Given the description of an element on the screen output the (x, y) to click on. 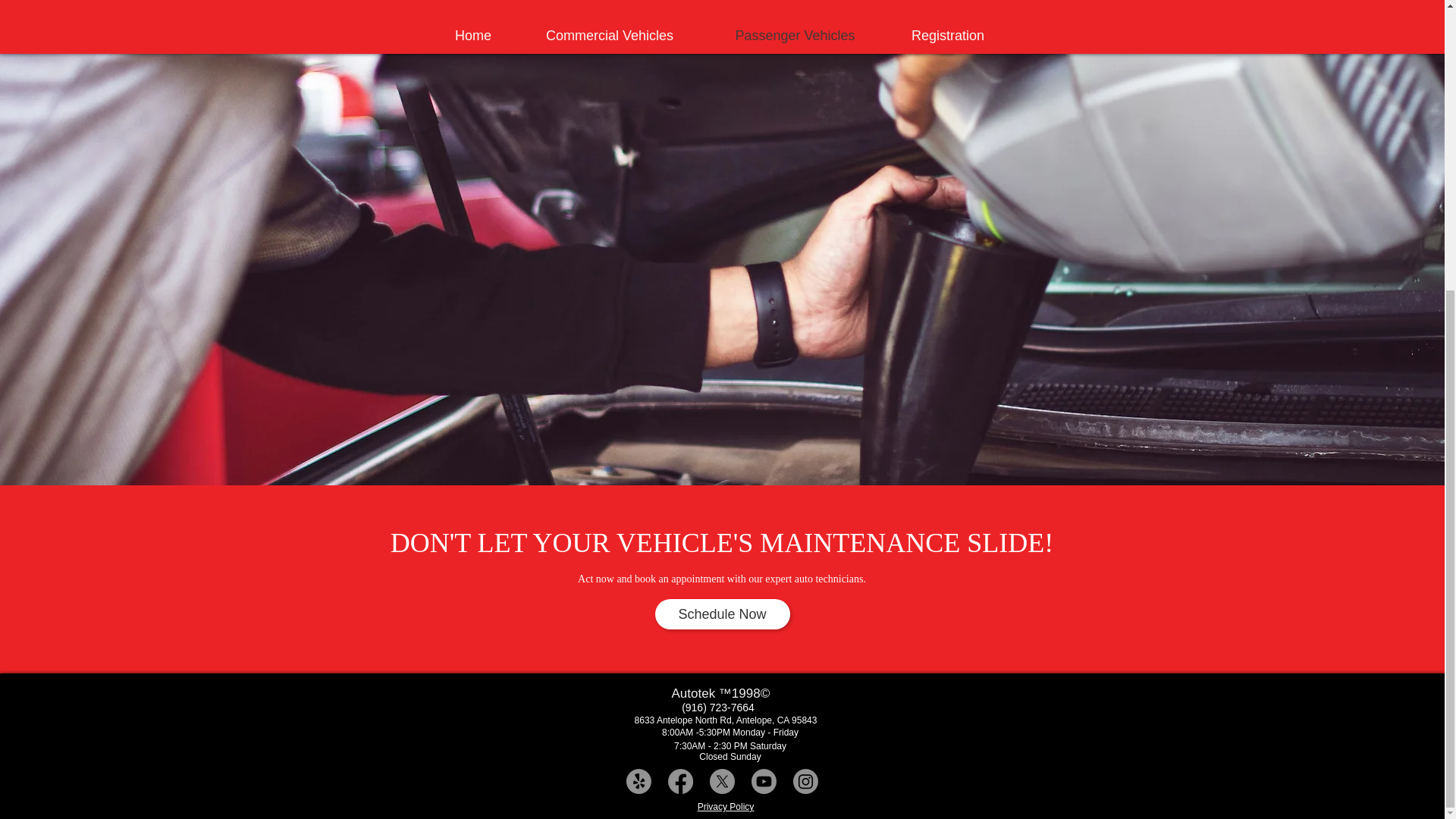
Privacy Policy (725, 806)
Schedule Now (722, 613)
8633 Antelope North Rd, Antelope, CA 95843 (725, 719)
